Given the description of an element on the screen output the (x, y) to click on. 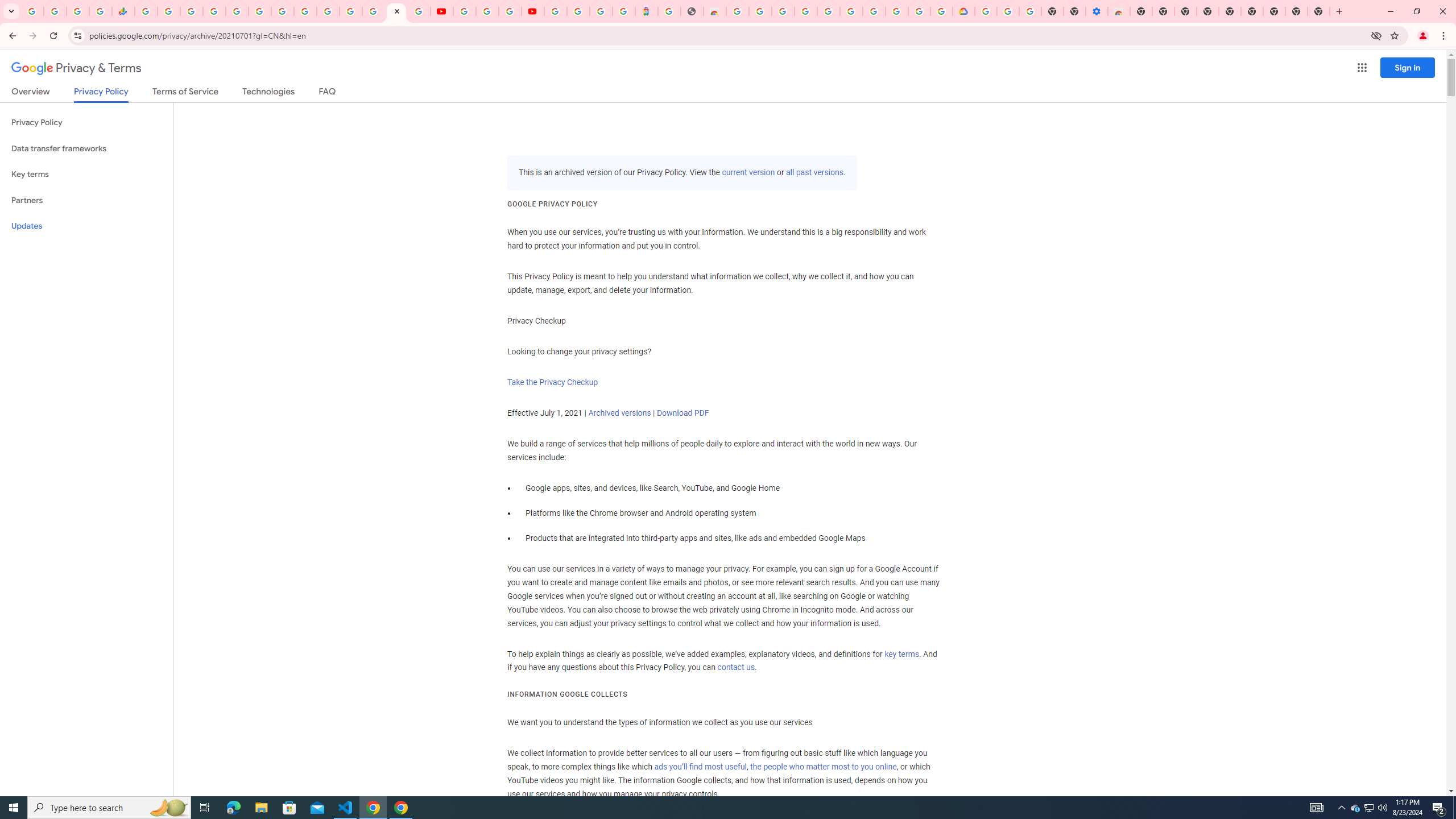
Chrome Web Store - Household (714, 11)
Create your Google Account (760, 11)
Take the Privacy Checkup (552, 381)
Sign in - Google Accounts (578, 11)
